Given the description of an element on the screen output the (x, y) to click on. 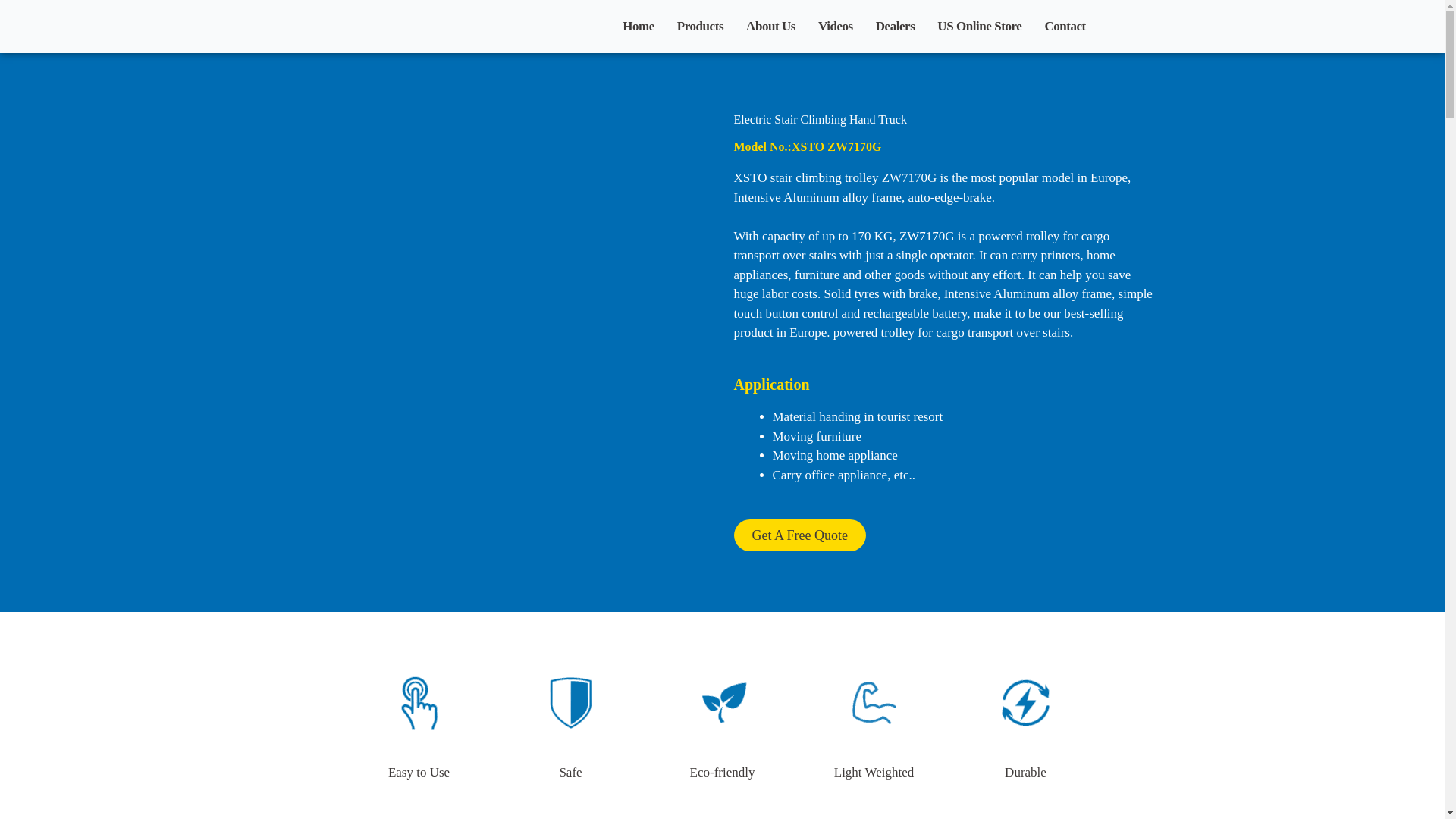
Dealers (895, 26)
Products (699, 26)
Contact (1065, 26)
Home (638, 26)
Videos (835, 26)
About Us (770, 26)
US Online Store (979, 26)
